Given the description of an element on the screen output the (x, y) to click on. 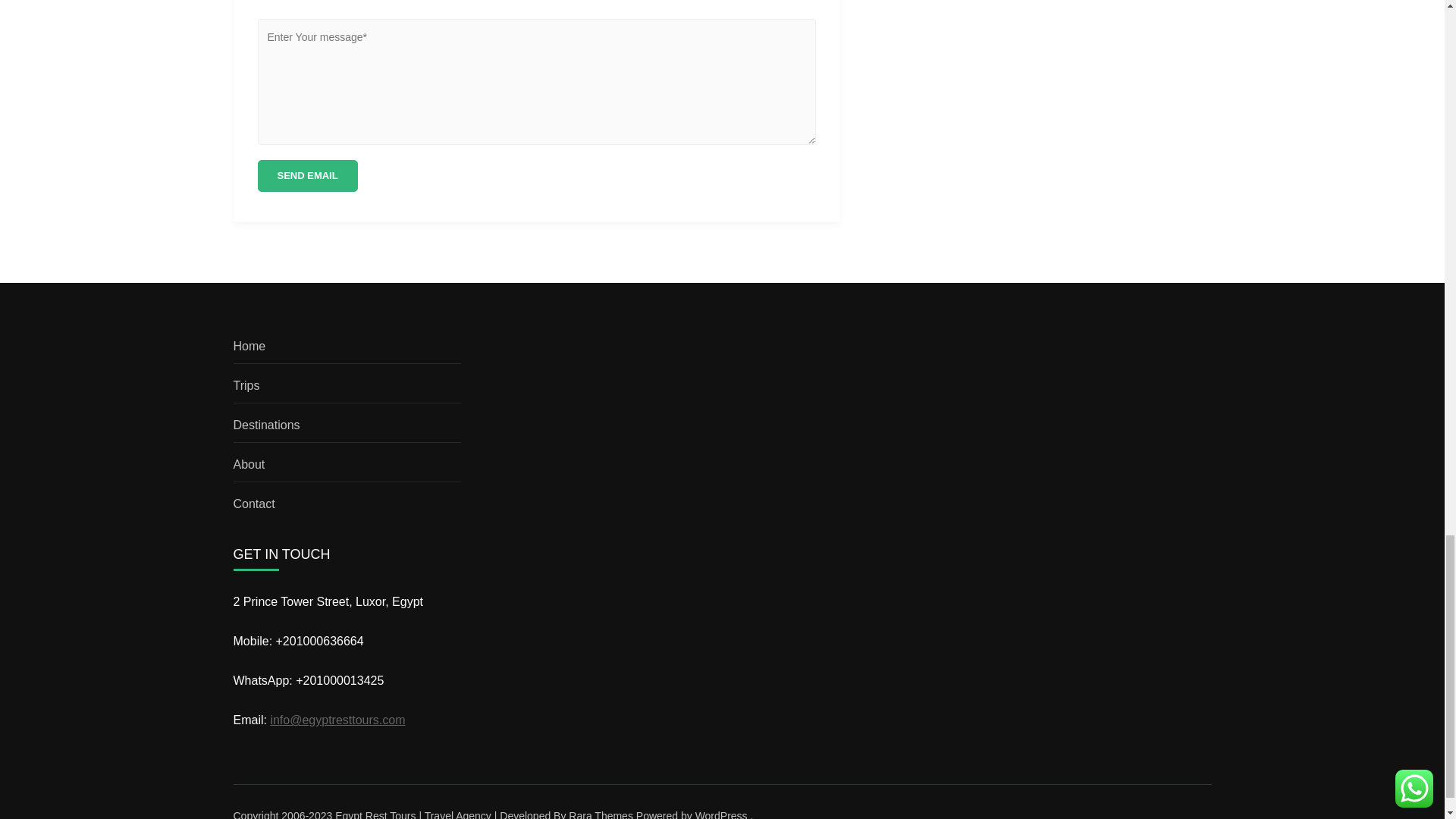
Contact (253, 503)
Trips (246, 385)
About (248, 463)
Send Email (307, 175)
Destinations (265, 424)
Send Email (307, 175)
WordPress (721, 814)
Home (249, 345)
Rara Themes (601, 814)
